Given the description of an element on the screen output the (x, y) to click on. 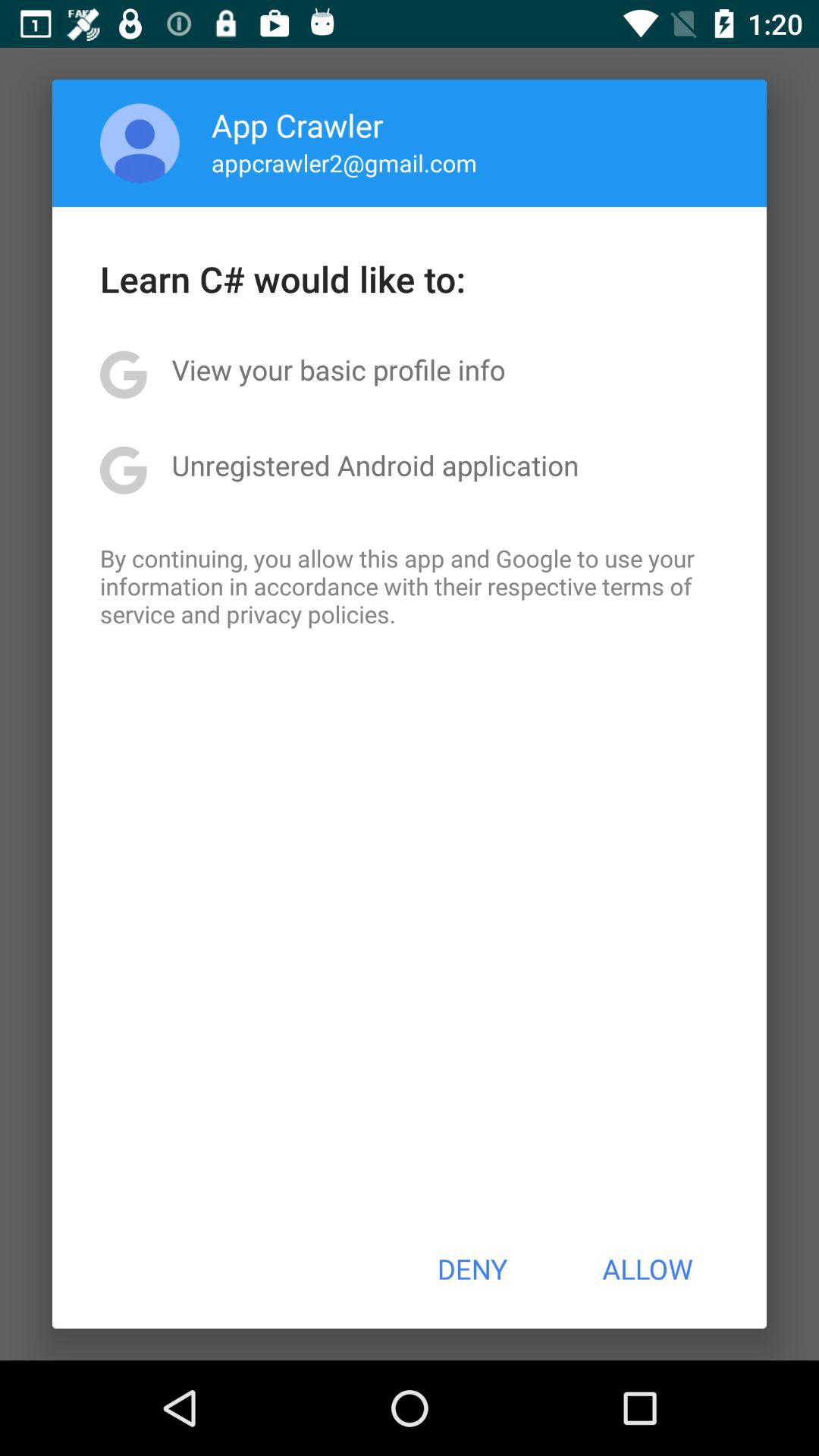
open app crawler item (297, 124)
